Given the description of an element on the screen output the (x, y) to click on. 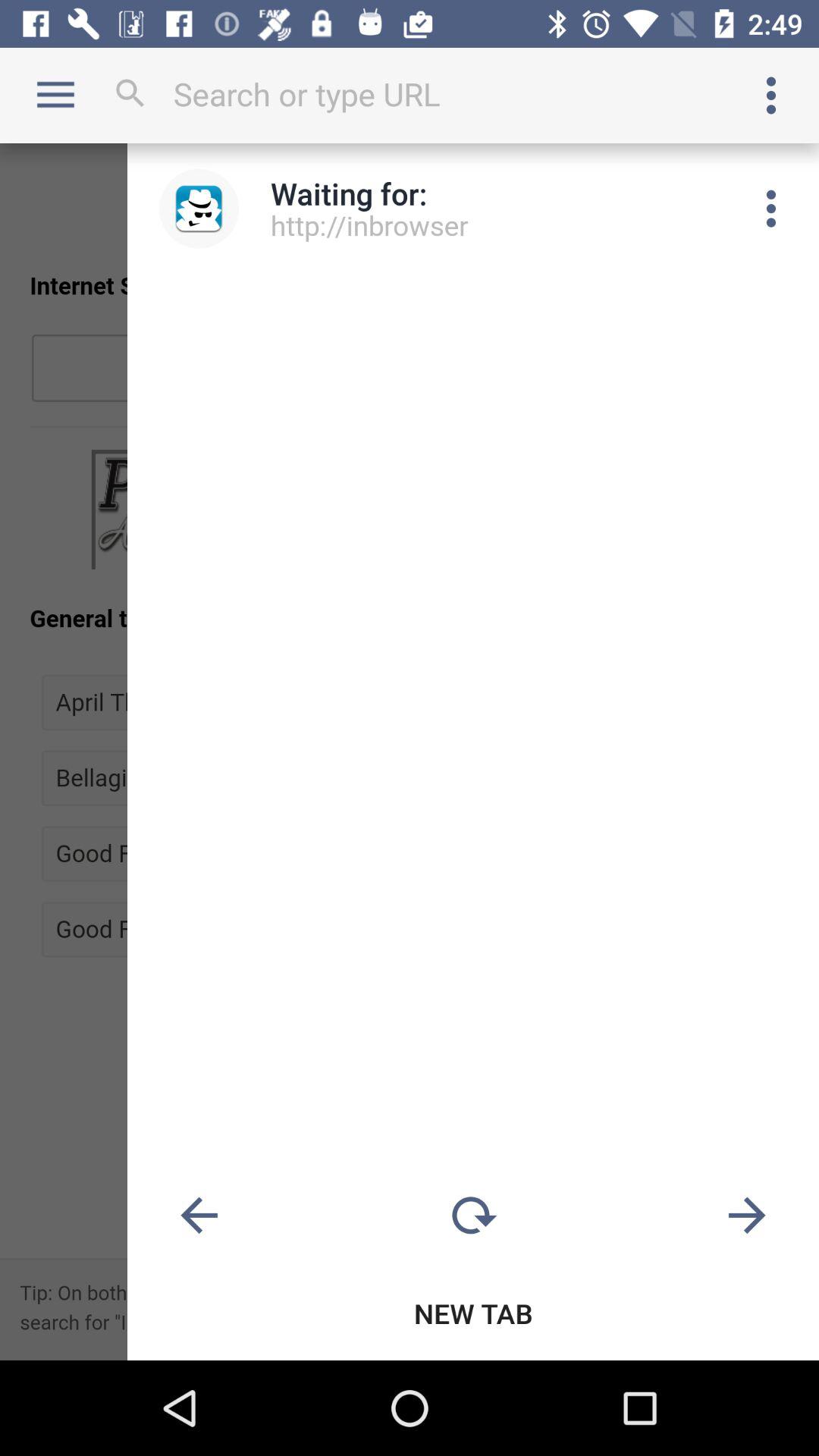
click icon above the new tab icon (472, 1216)
